Given the description of an element on the screen output the (x, y) to click on. 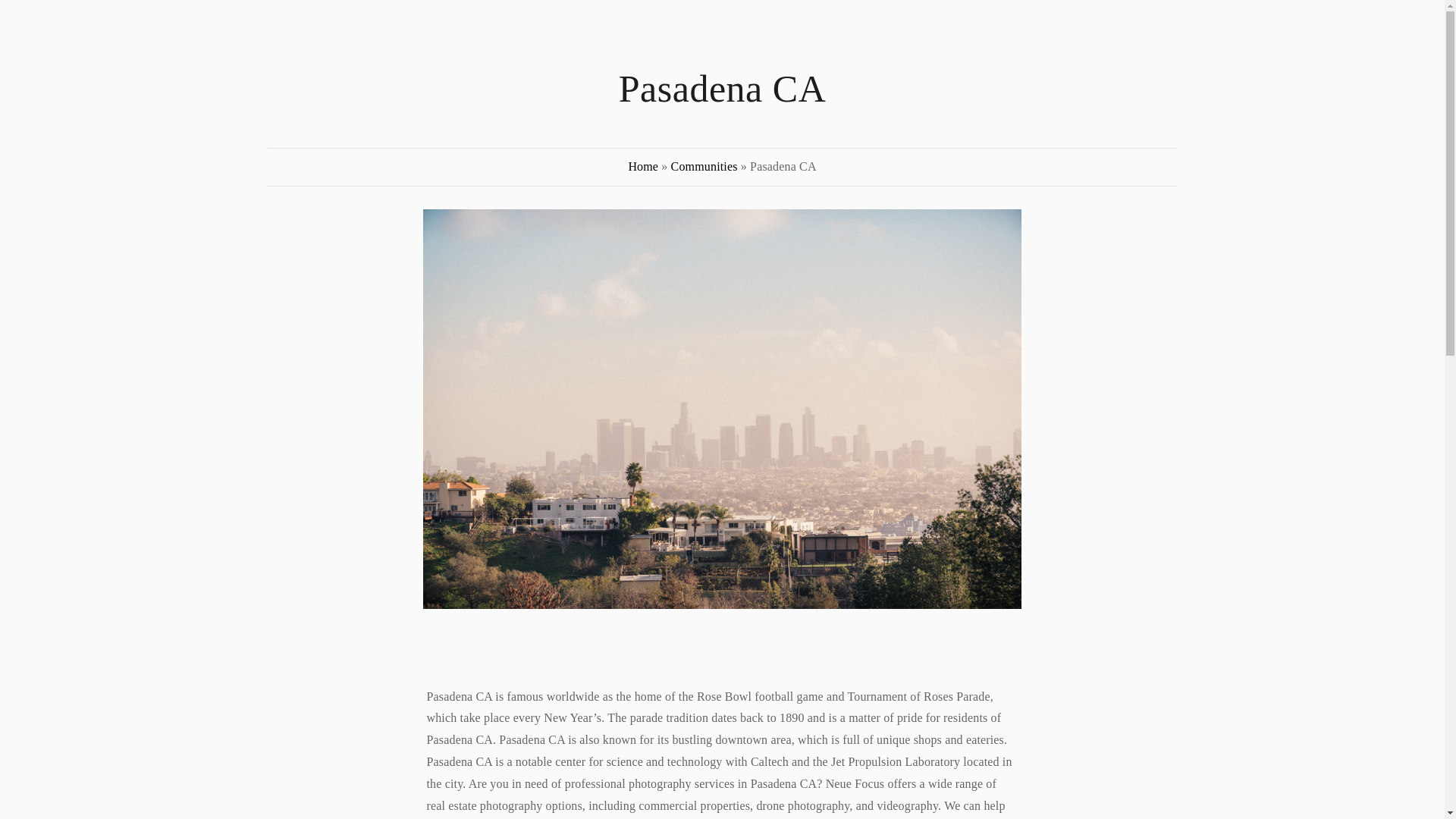
Home (642, 165)
Communities (704, 165)
